Given the description of an element on the screen output the (x, y) to click on. 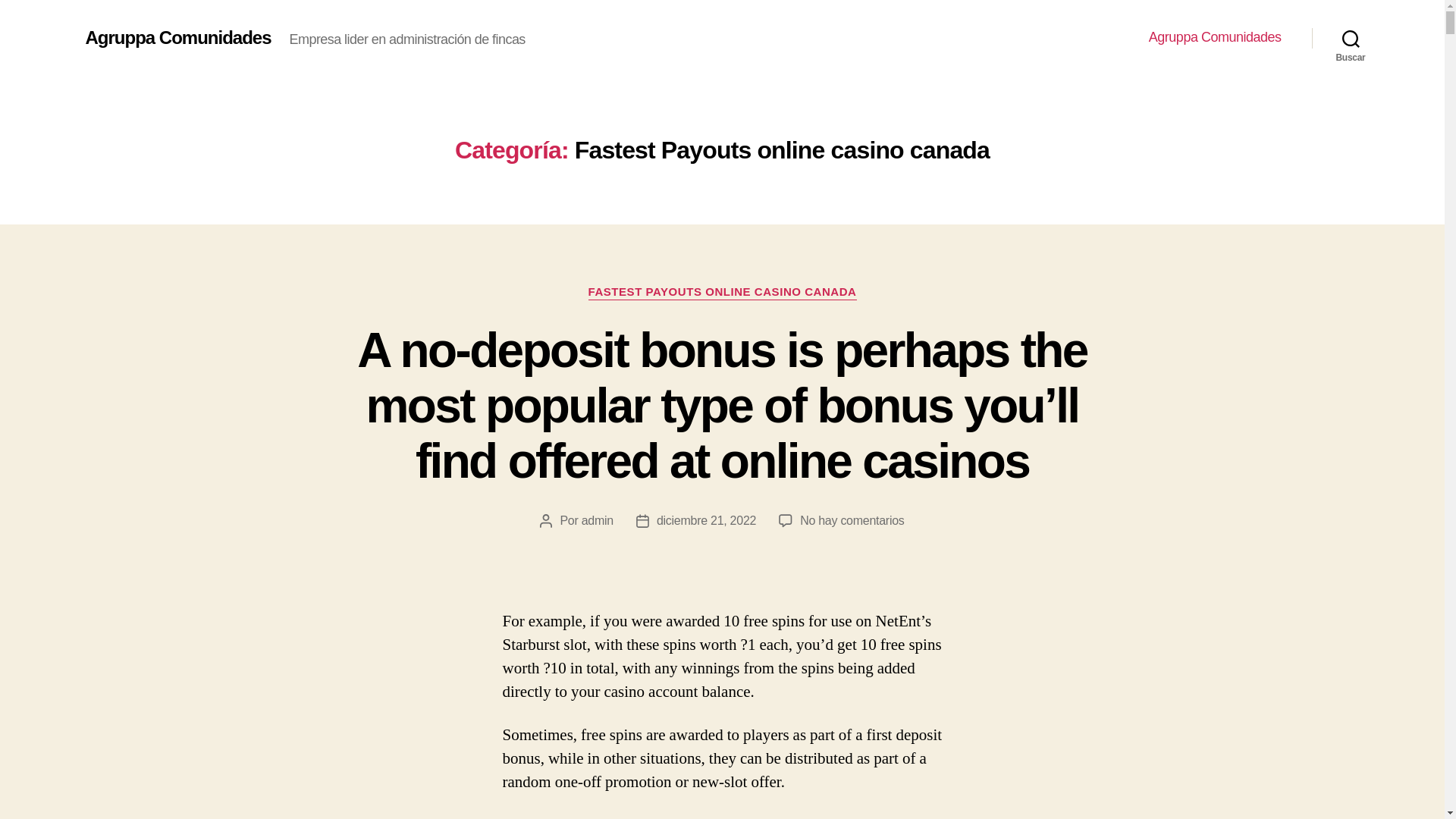
Agruppa Comunidades (177, 37)
admin (596, 520)
diciembre 21, 2022 (705, 520)
FASTEST PAYOUTS ONLINE CASINO CANADA (722, 292)
Buscar (1350, 37)
Agruppa Comunidades (1214, 37)
